Given the description of an element on the screen output the (x, y) to click on. 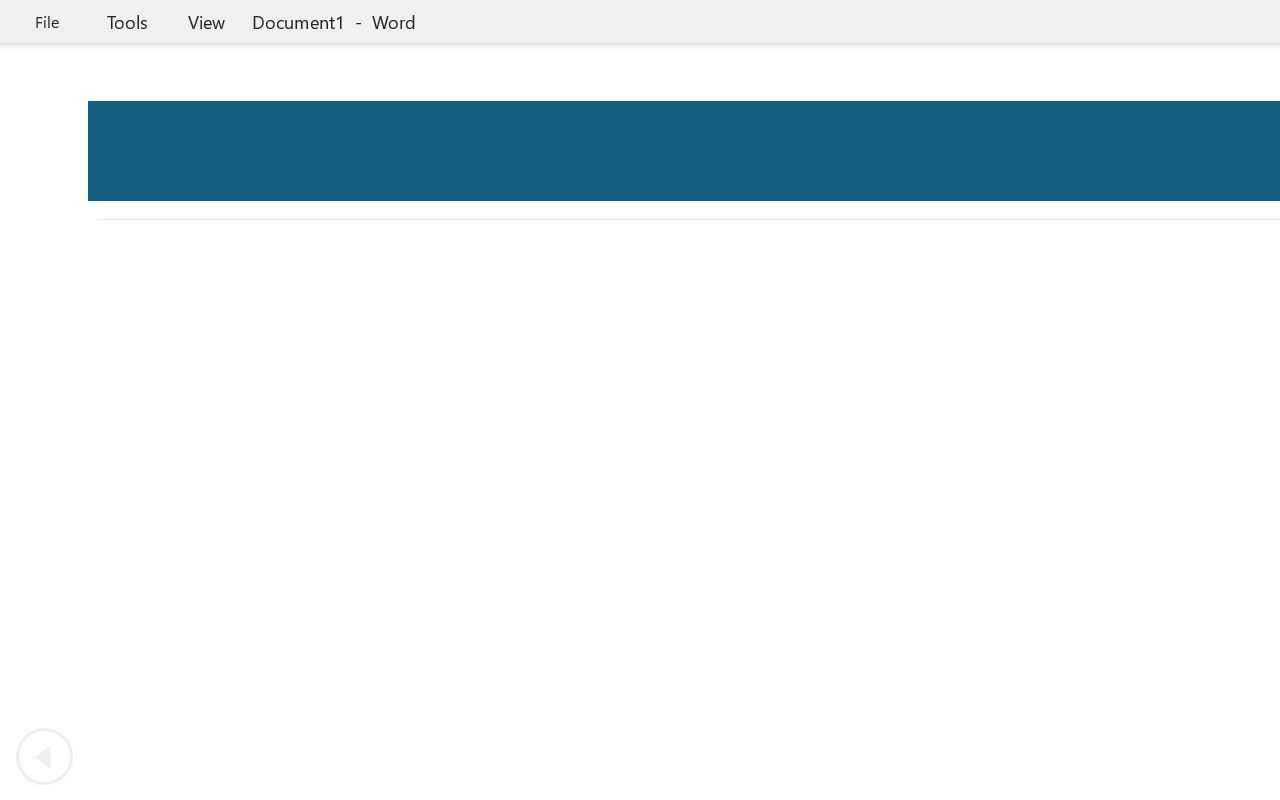
Tools (127, 21)
